Given the description of an element on the screen output the (x, y) to click on. 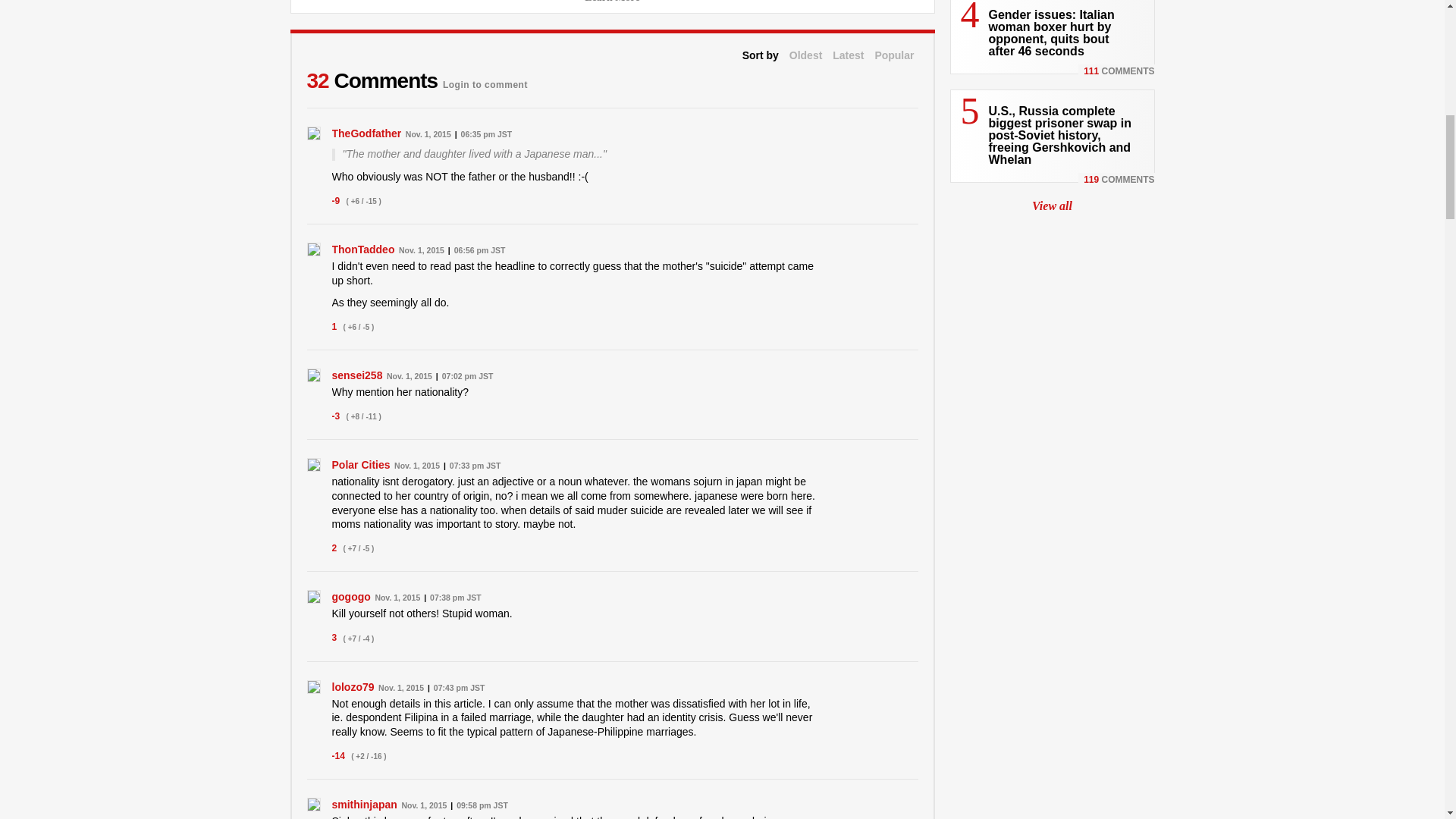
Popularity (894, 55)
Login to comment (484, 80)
Oldest (805, 55)
Latest (847, 55)
